Given the description of an element on the screen output the (x, y) to click on. 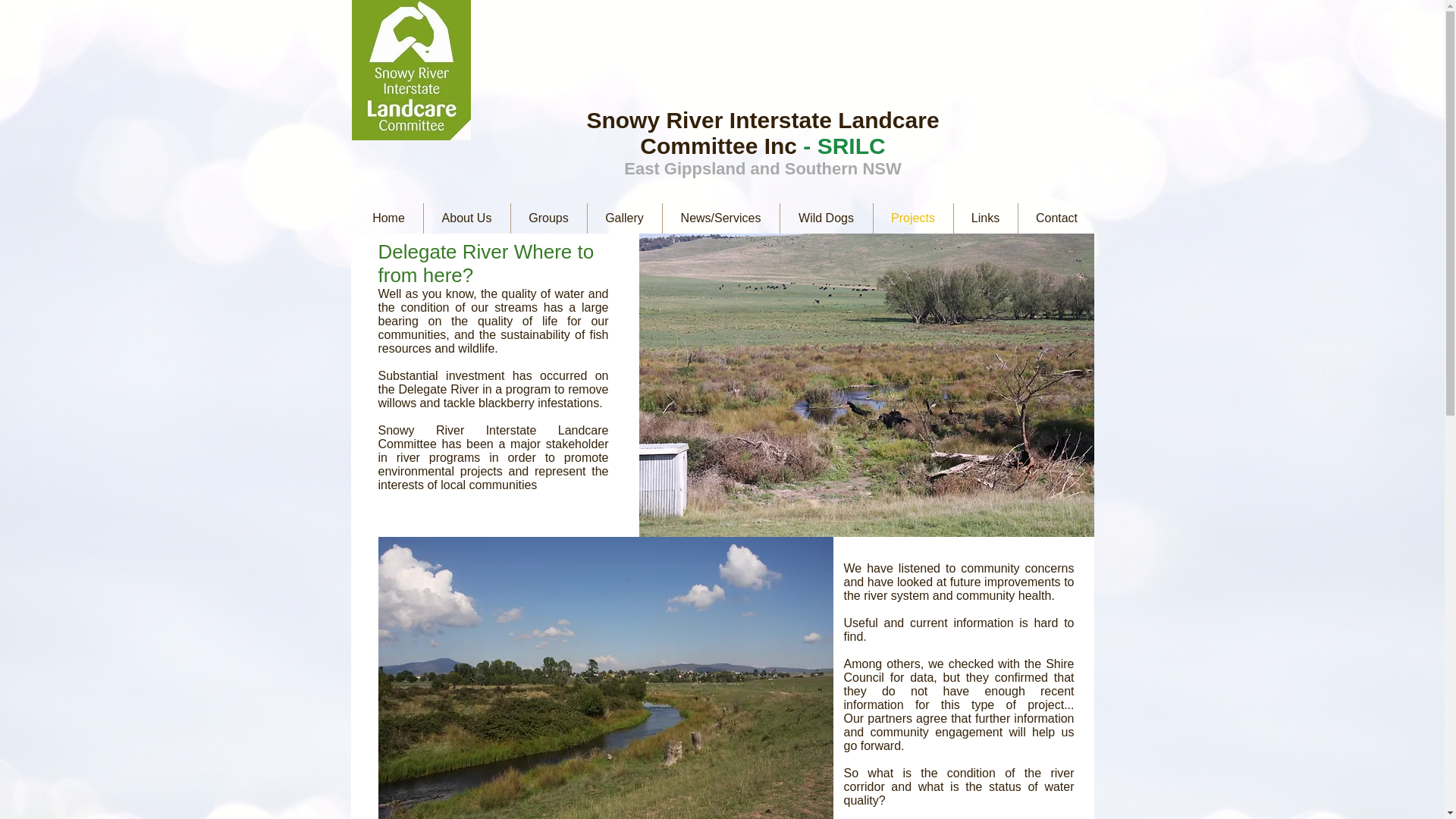
Projects (913, 218)
About Us (466, 218)
Gallery (623, 218)
Groups (548, 218)
Wild Dogs (825, 218)
Contact (1055, 218)
Home (389, 218)
Snowy River Interstate Landcare Committee Inc - SRILC (762, 132)
Links (985, 218)
